Given the description of an element on the screen output the (x, y) to click on. 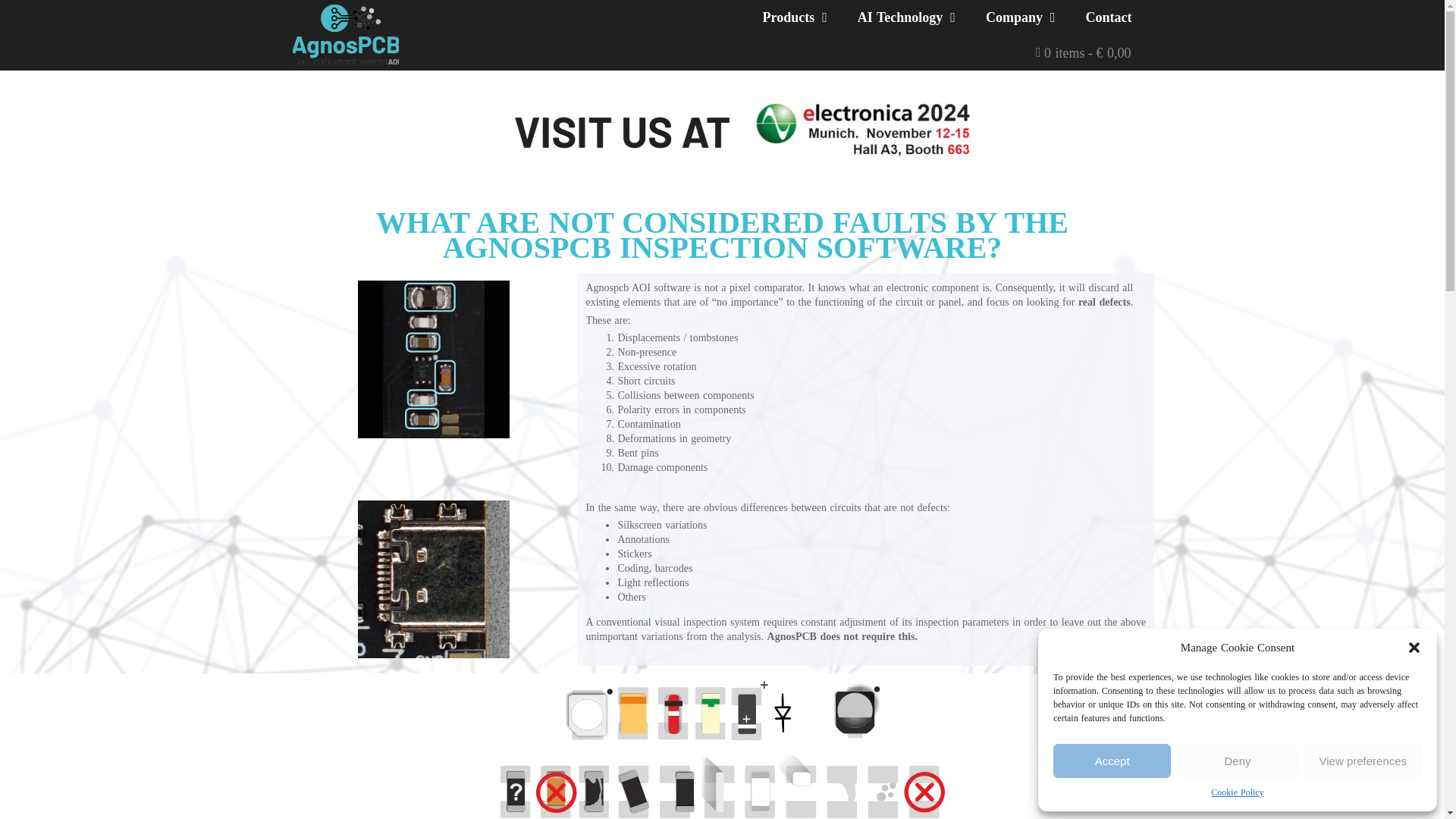
Accept (1111, 760)
Products (795, 17)
Cookie Policy (1237, 792)
Contact (1108, 17)
View preferences (1363, 760)
Start shopping (1083, 52)
AI Technology (907, 17)
Deny (1236, 760)
Company (1020, 17)
